Given the description of an element on the screen output the (x, y) to click on. 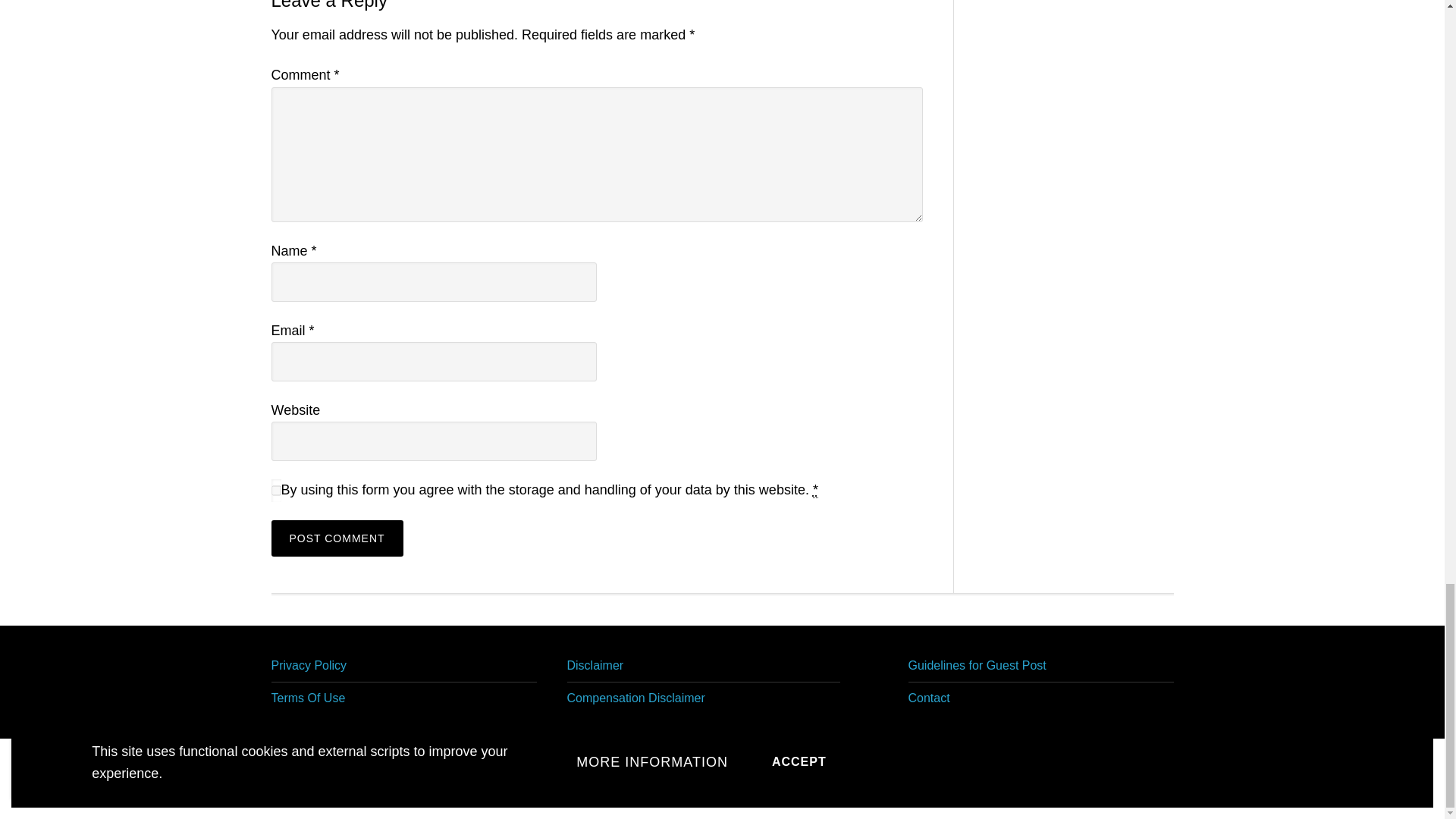
Post Comment (336, 538)
Post Comment (336, 538)
